Given the description of an element on the screen output the (x, y) to click on. 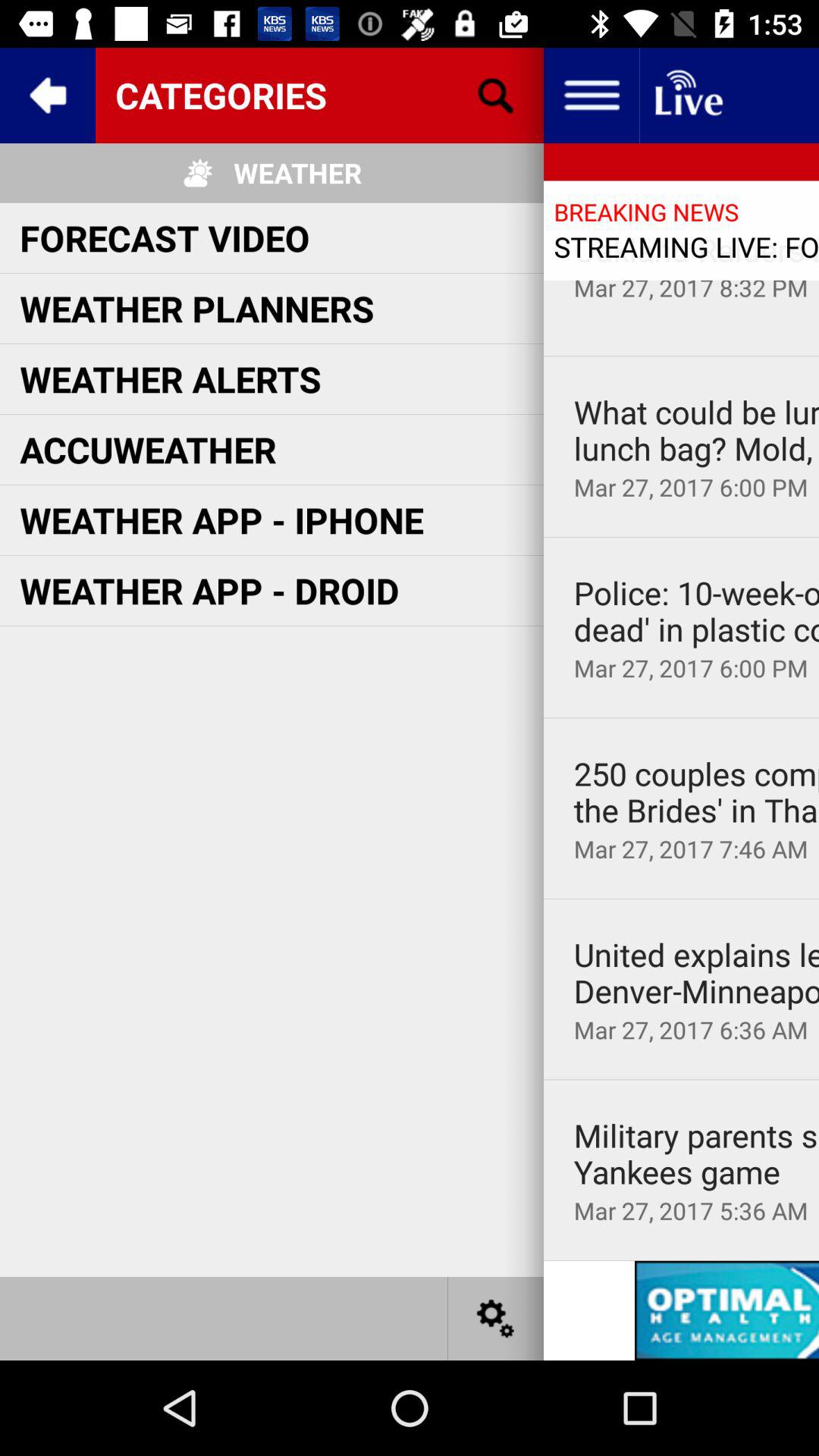
select the icon above weather planners (164, 237)
